Given the description of an element on the screen output the (x, y) to click on. 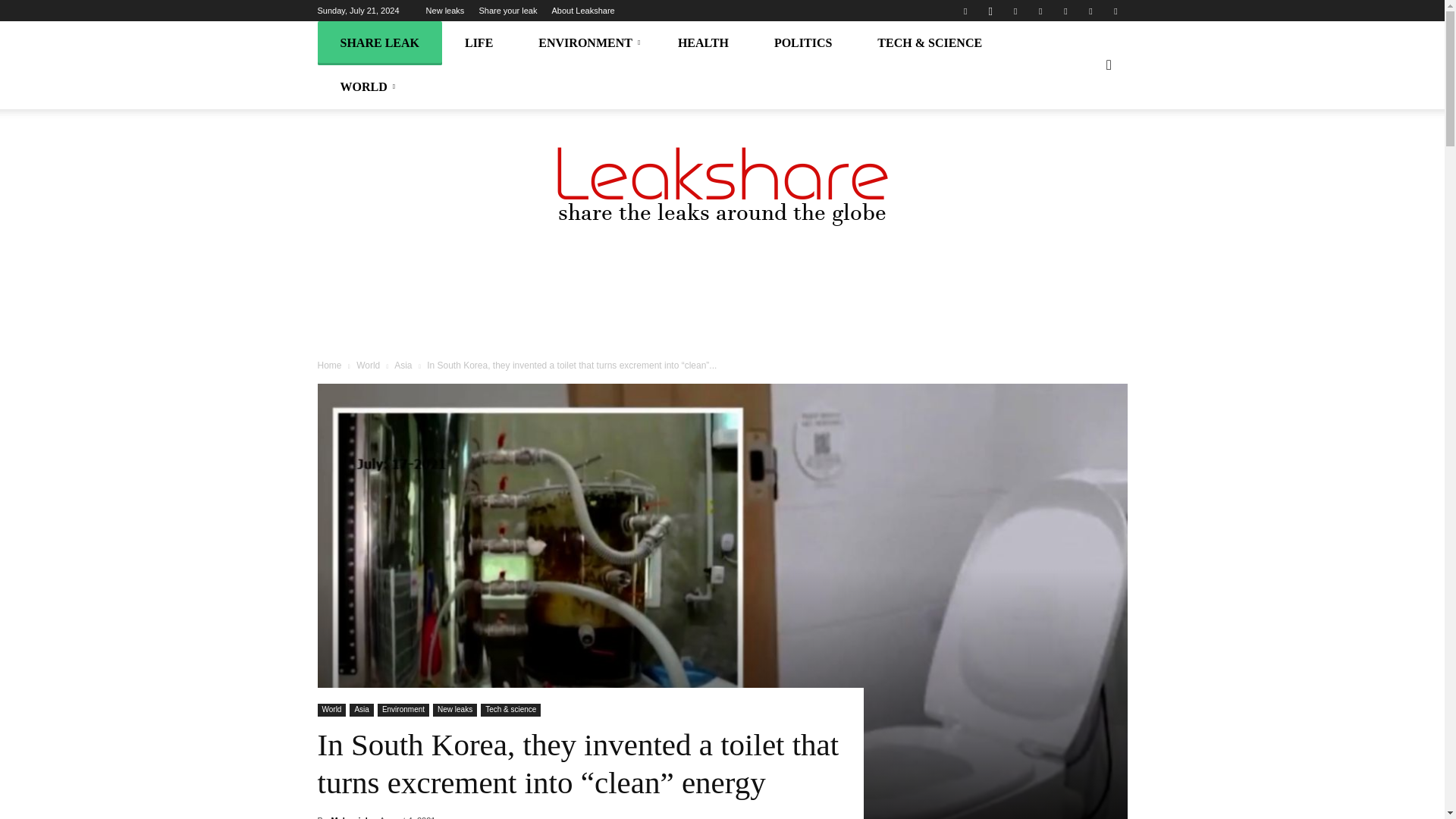
SHARE LEAK (379, 43)
ENVIRONMENT (585, 43)
View all posts in World (368, 365)
Instagram (989, 10)
Advertisement (721, 313)
Twitter (1090, 10)
About Leakshare (582, 10)
Facebook (964, 10)
LIFE (478, 43)
View all posts in Asia (404, 365)
New leaks (445, 10)
Share your leak (508, 10)
Pinterest (1040, 10)
Youtube (1114, 10)
Linkedin (1015, 10)
